Given the description of an element on the screen output the (x, y) to click on. 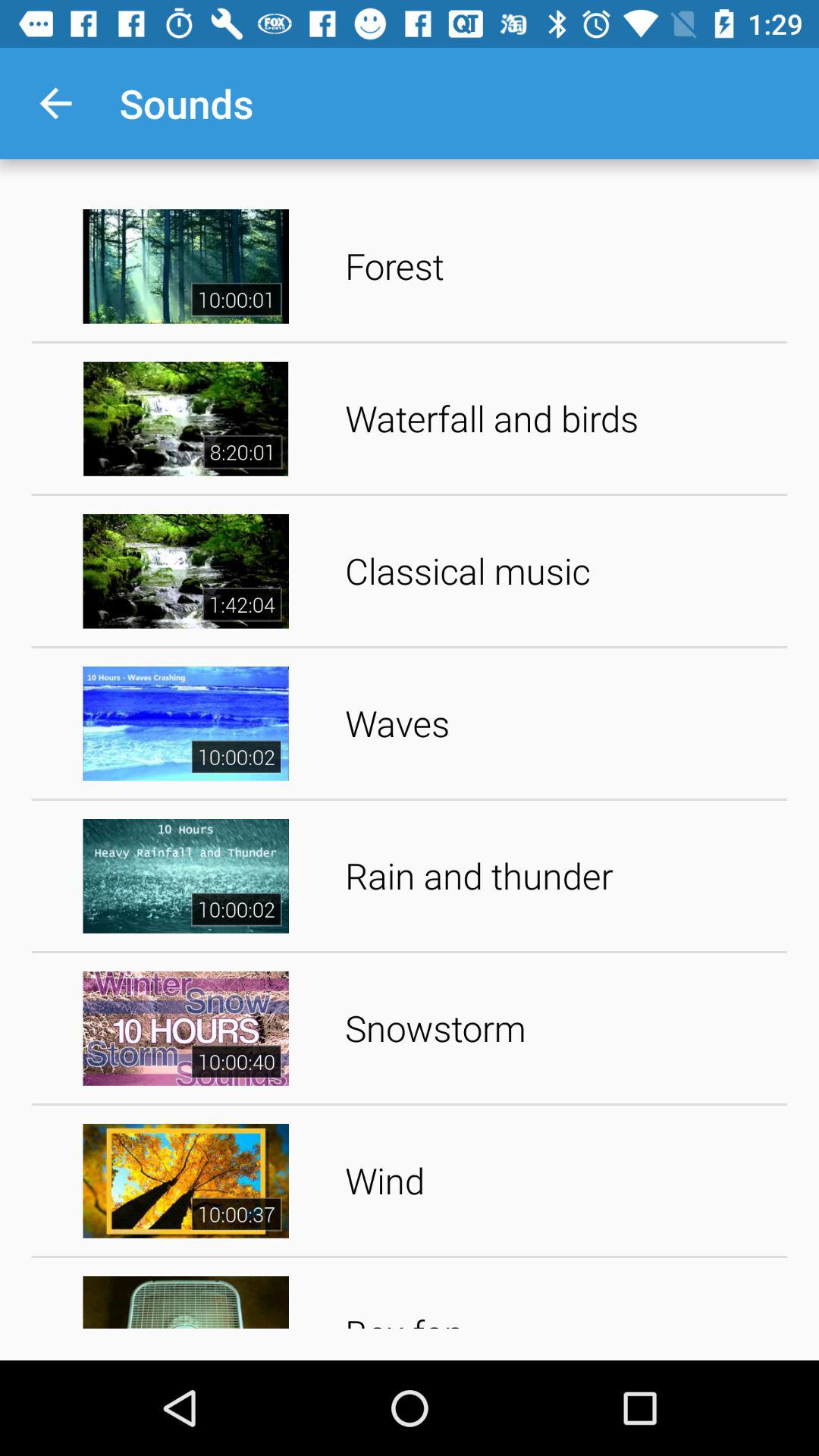
choose the item above the waterfall and birds app (560, 266)
